Given the description of an element on the screen output the (x, y) to click on. 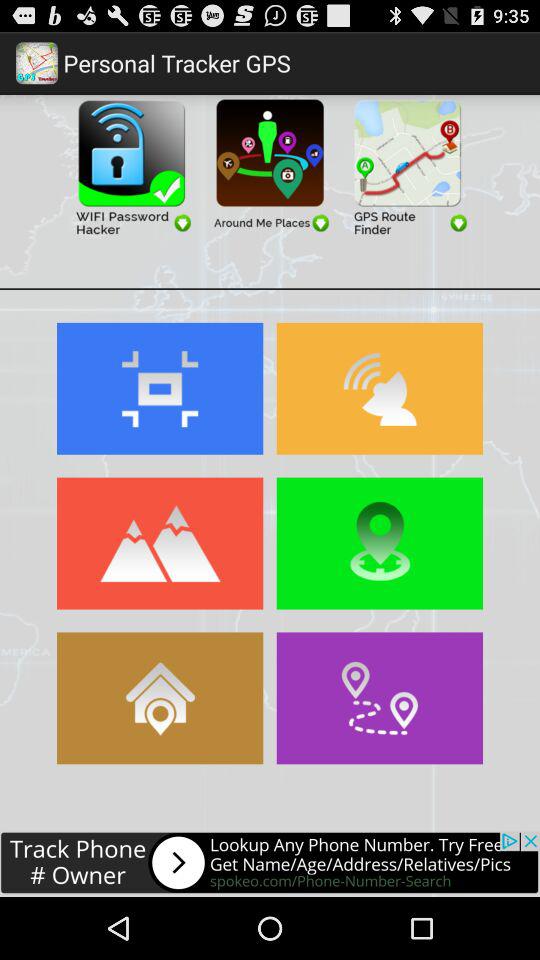
search home (160, 698)
